Given the description of an element on the screen output the (x, y) to click on. 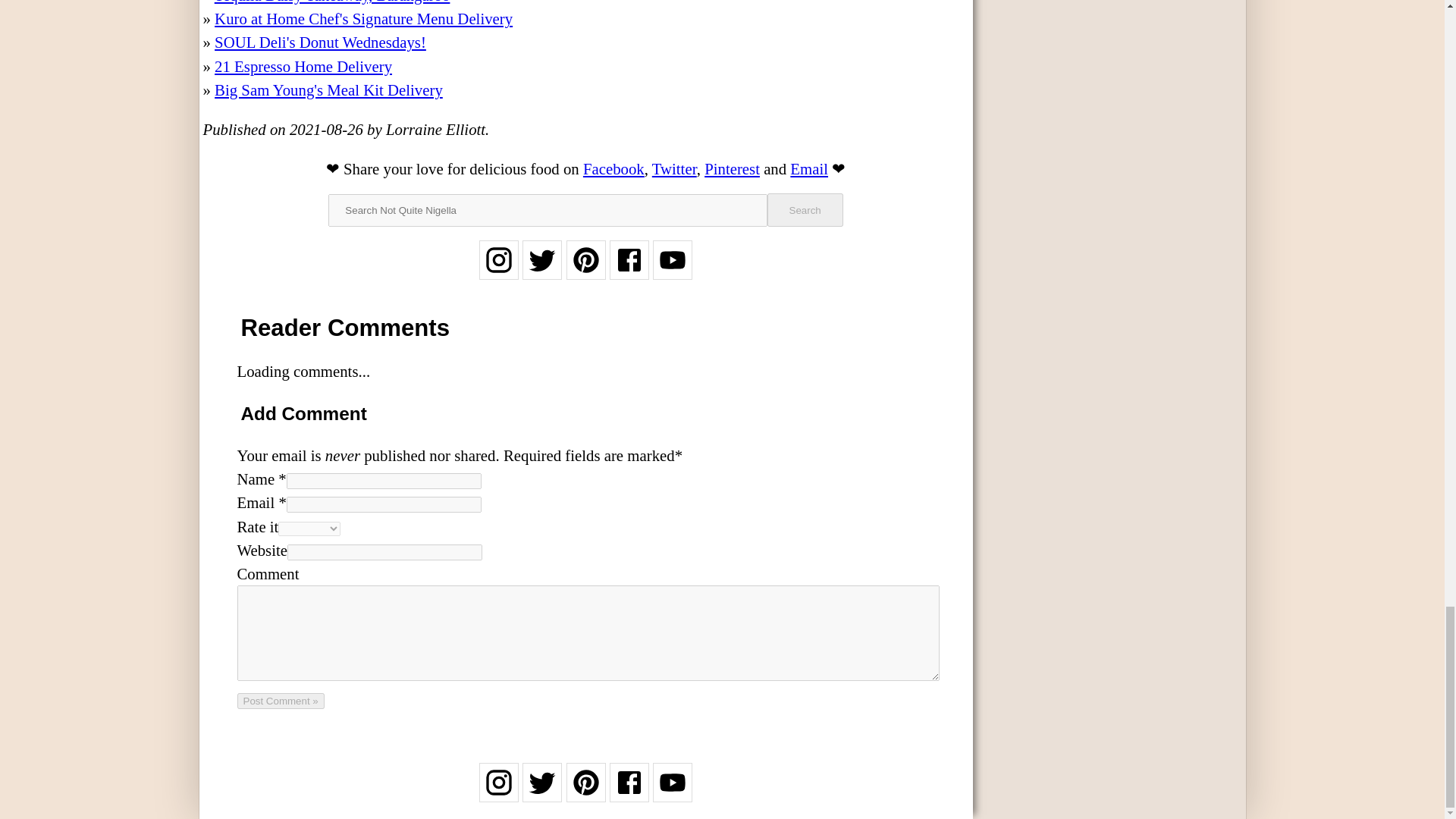
Share on Facebook (614, 168)
Pinterest (732, 168)
Search (805, 209)
Follow on Instagram (498, 269)
Tweet (674, 168)
Big Sam Young's Meal Kit Delivery (328, 89)
Follow on Facebook (629, 269)
Follow on Instagram (498, 791)
Tequila Daisy Takeaway, Barangaroo (331, 2)
Kuro at Home Chef's Signature Menu Delivery (363, 18)
Follow on YouTube (672, 791)
Search (805, 209)
Follow on Twitter (542, 791)
21 Espresso Home Delivery (302, 66)
SOUL Deli's Donut Wednesdays! (320, 41)
